Given the description of an element on the screen output the (x, y) to click on. 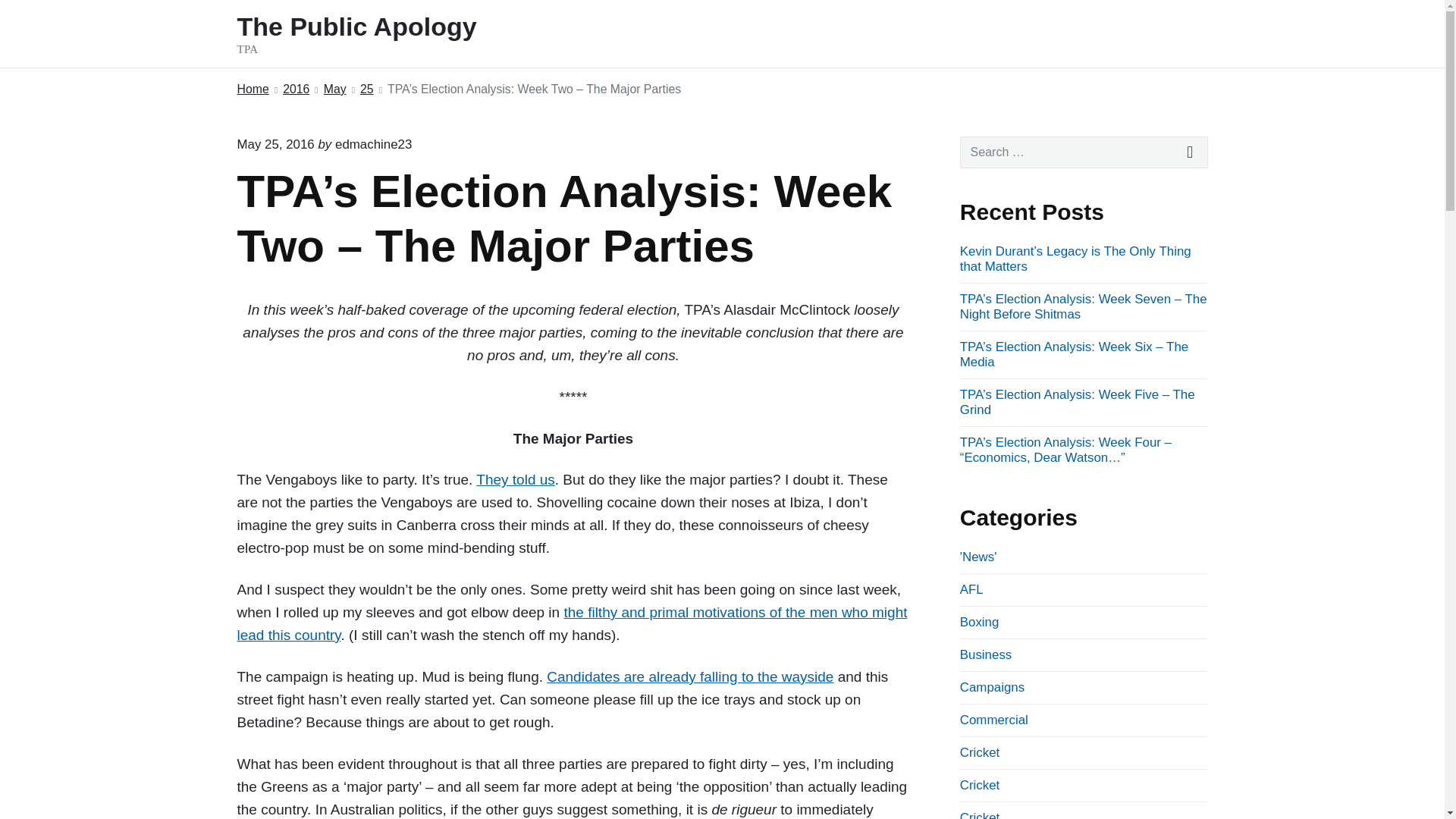
Cricket (979, 814)
Business (985, 654)
Campaigns (992, 687)
edmachine23 (373, 144)
Candidates are already falling to the wayside (689, 676)
Cricket (979, 785)
Home (251, 89)
2016 (295, 89)
Wednesday, May 25, 2016, 10:20 am (274, 144)
'News' (978, 556)
Boxing (376, 33)
May (978, 622)
Commercial (334, 89)
